Given the description of an element on the screen output the (x, y) to click on. 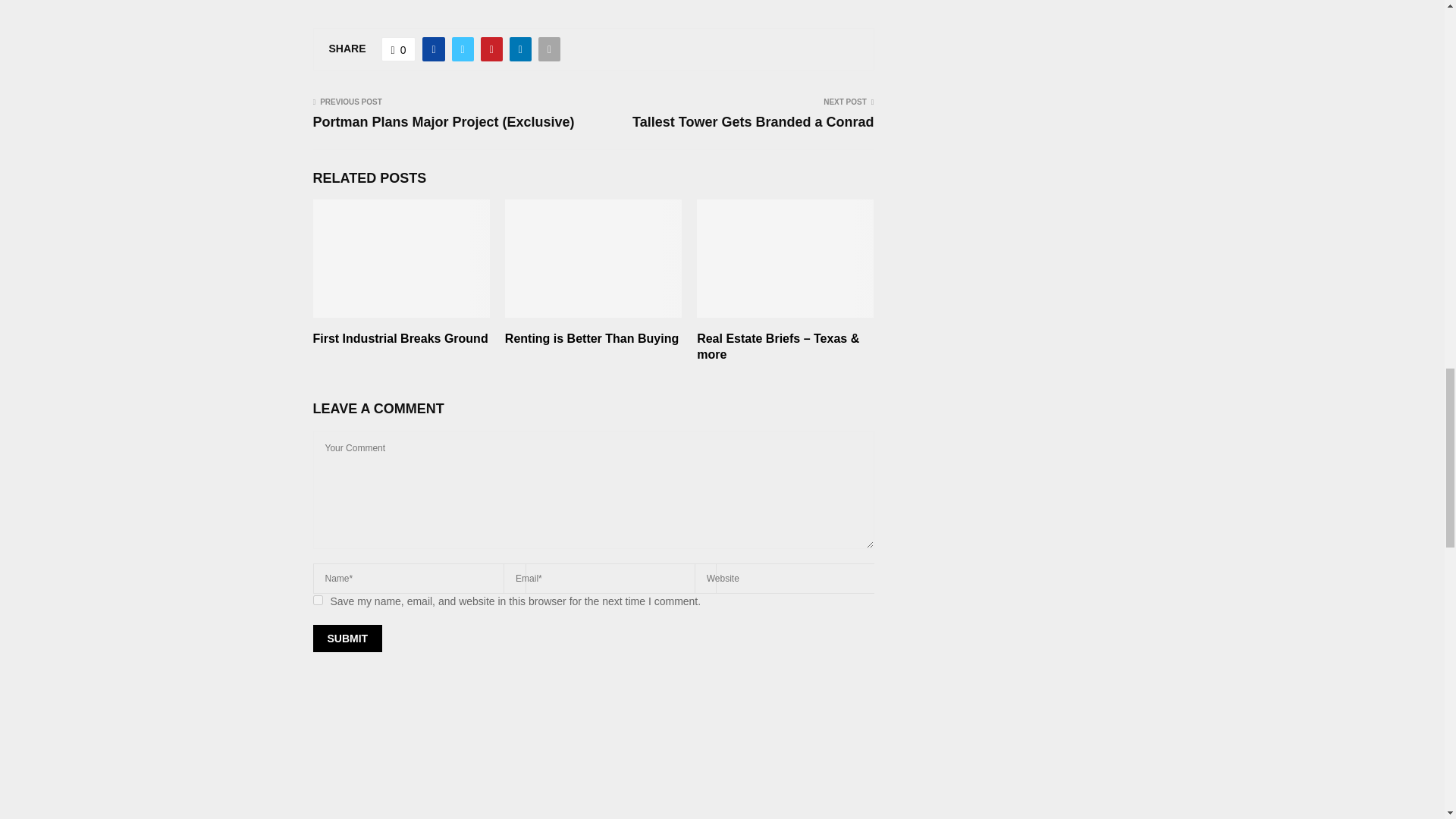
Submit (347, 637)
Like (398, 48)
yes (317, 600)
